Given the description of an element on the screen output the (x, y) to click on. 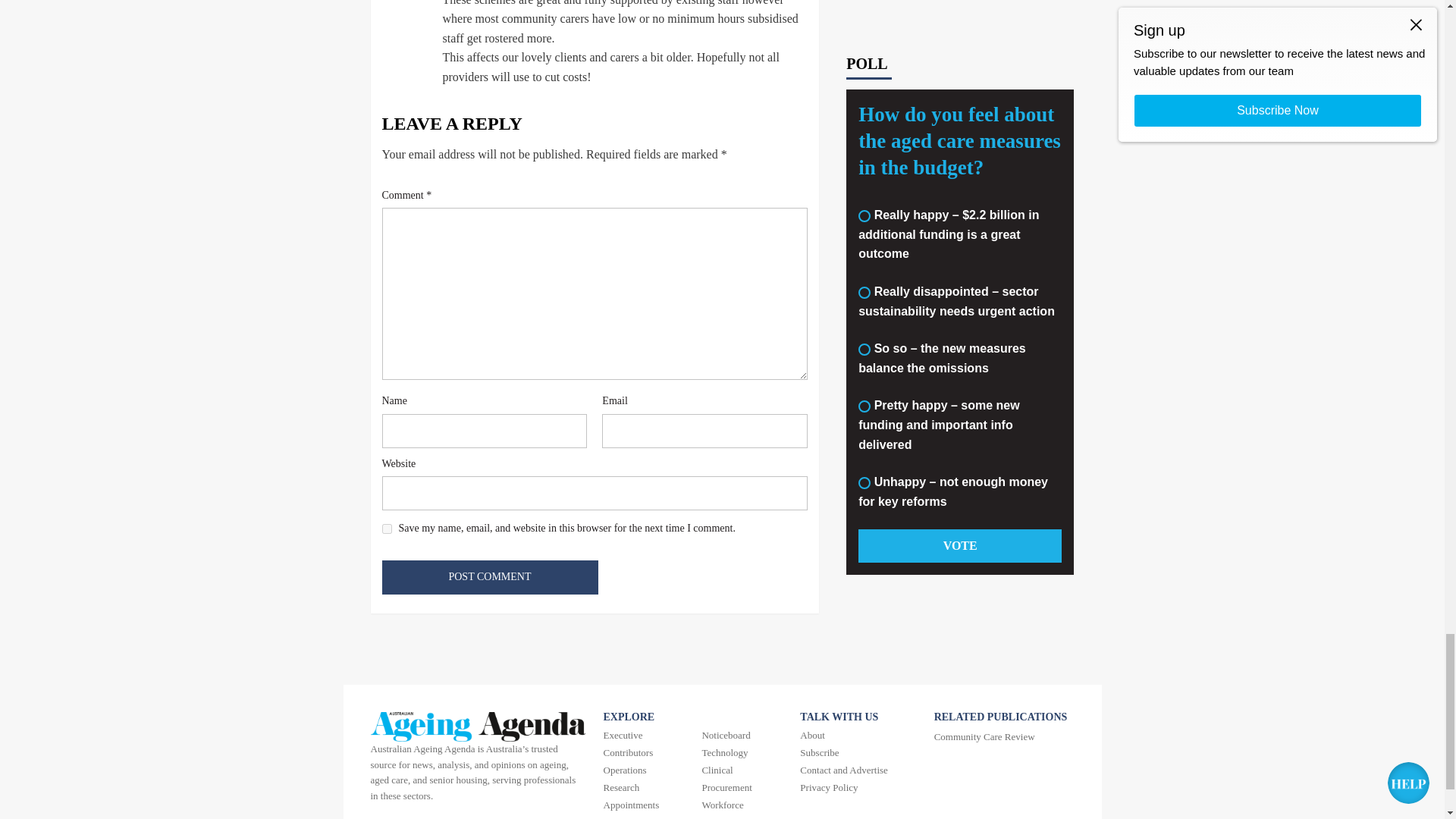
Post Comment (489, 577)
yes (386, 528)
